Given the description of an element on the screen output the (x, y) to click on. 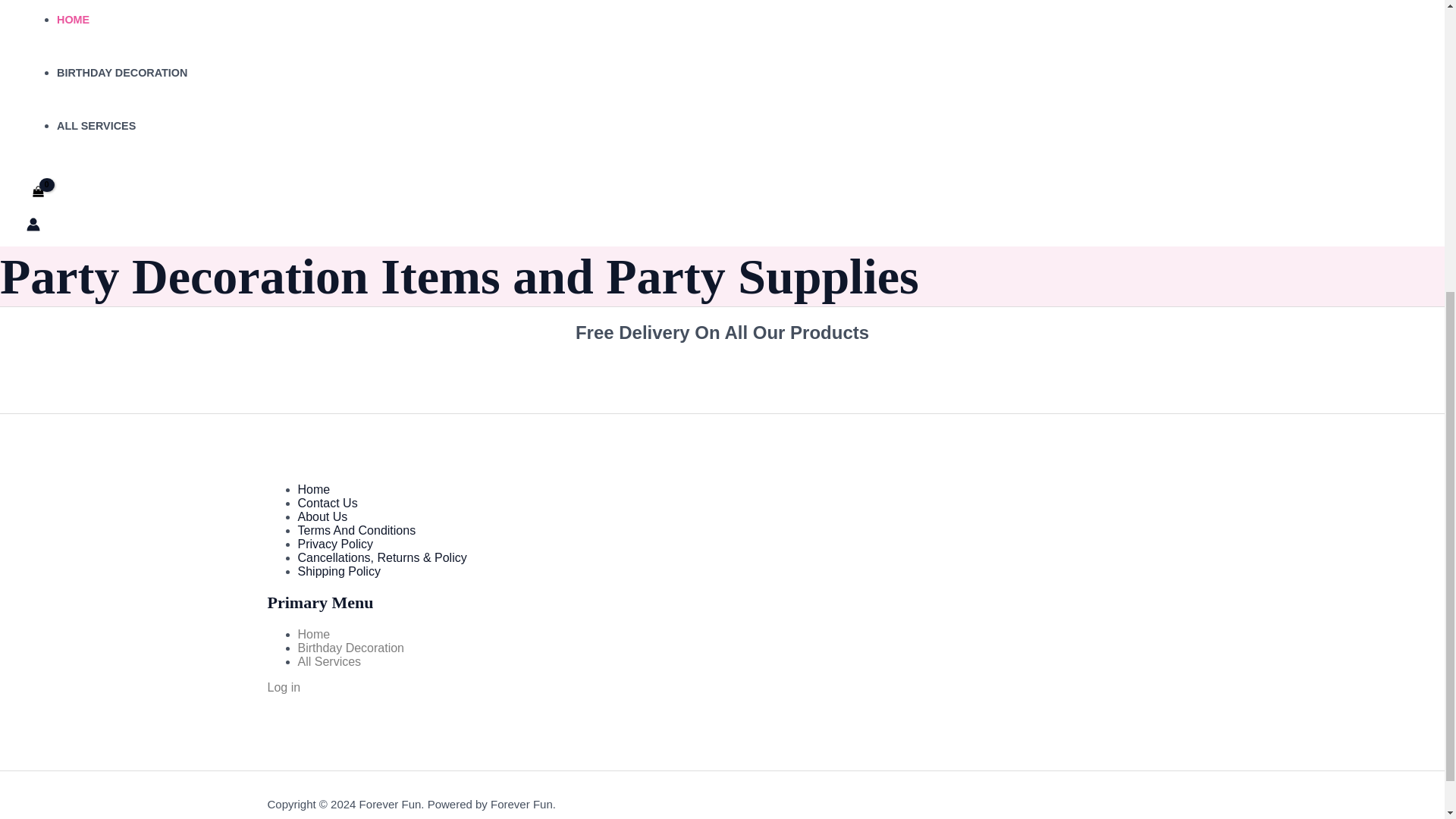
Shipping Policy (338, 571)
Home (313, 634)
Log in (282, 686)
BIRTHDAY DECORATION (121, 72)
Privacy Policy (334, 543)
Contact Us (326, 502)
All Services (329, 661)
Terms And Conditions (355, 530)
Home (313, 489)
About Us (322, 516)
